Given the description of an element on the screen output the (x, y) to click on. 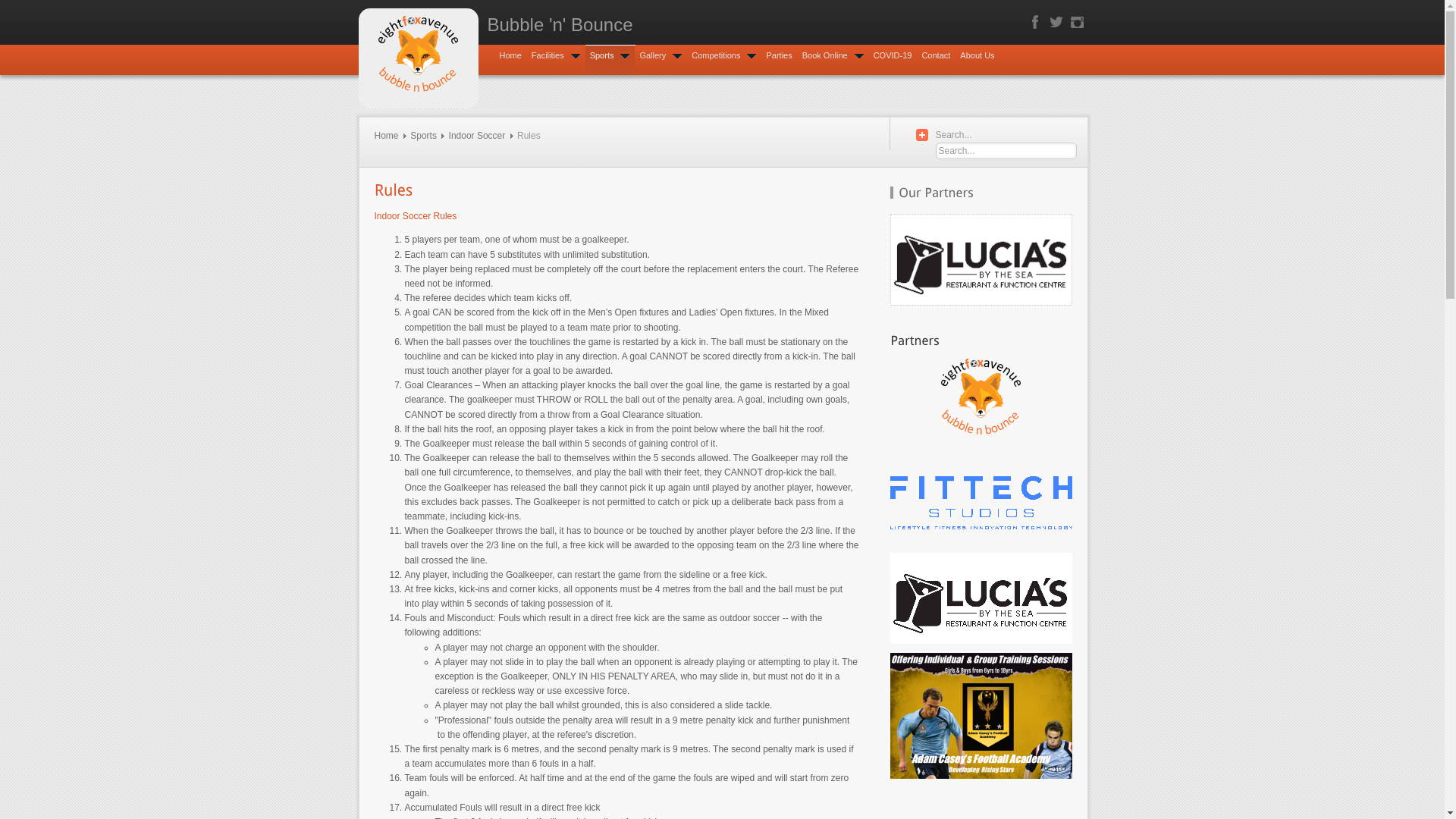
About Us Element type: text (977, 60)
Instagram Element type: hover (1076, 21)
Visit FITTECH STUDIOS for your Fitness and Wellbeing needs! Element type: hover (981, 497)
Sports Element type: text (423, 135)
COVID-19 Element type: text (892, 60)
Developing Rising Stars Element type: hover (981, 715)
Competitions Element type: text (723, 60)
Facilities Element type: text (555, 60)
Gallery Element type: text (660, 60)
Home Element type: text (509, 60)
Parties Element type: text (778, 60)
Visit LUCIA'S BY THE SEA Restaurant and Function Centre! Element type: hover (981, 597)
Sports Element type: text (609, 60)
Indoor Soccer Rules Element type: text (415, 215)
Indoor Soccer Element type: text (476, 135)
Book Online Element type: text (832, 60)
Home Element type: text (386, 135)
Twitter Element type: hover (1055, 21)
Facebook Element type: hover (1034, 21)
Contact Element type: text (935, 60)
